Given the description of an element on the screen output the (x, y) to click on. 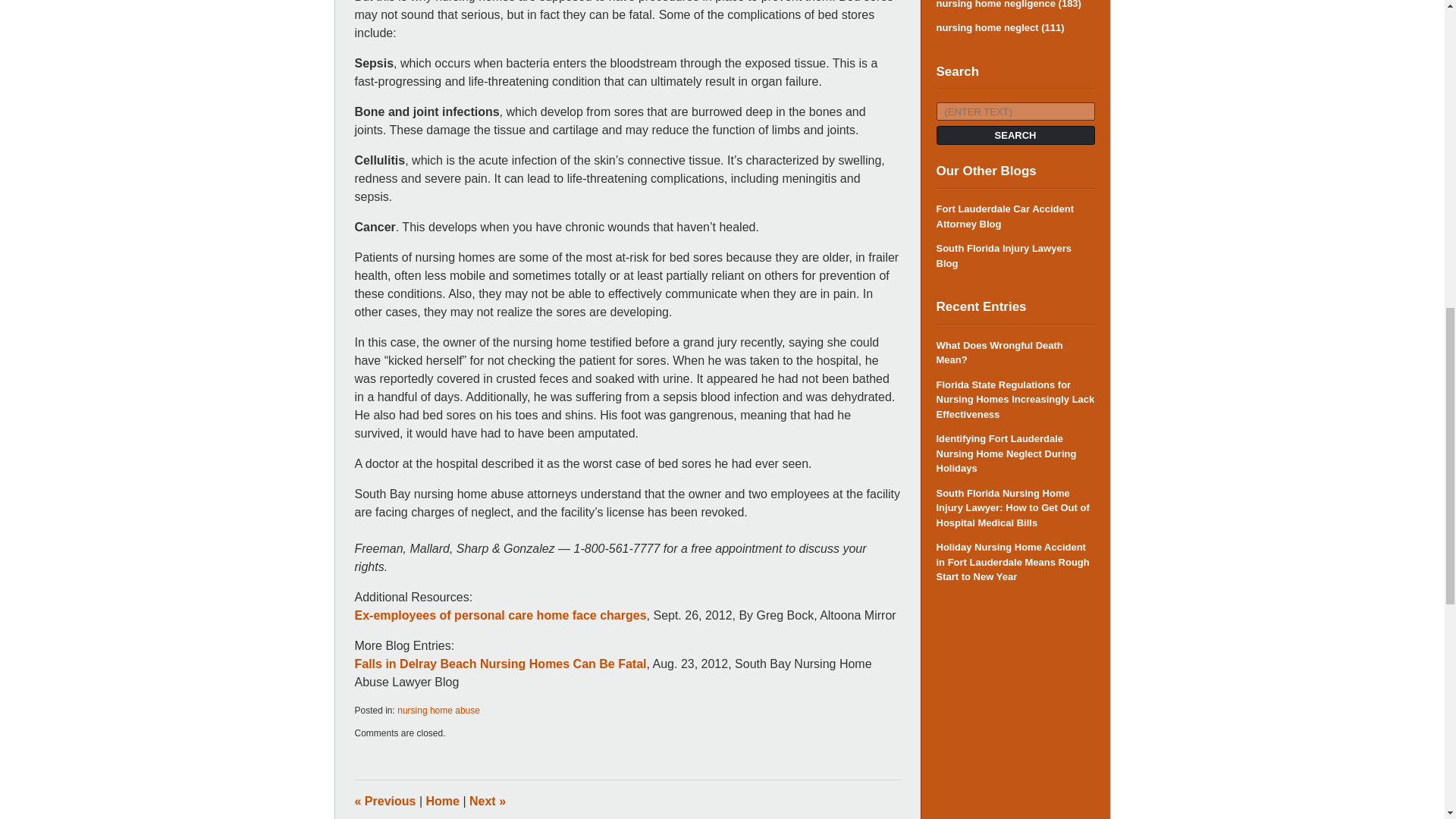
SEARCH (1015, 135)
What Does Wrongful Death Mean? (1015, 352)
Home (443, 800)
Fort Lauderdale Car Accident Attorney Blog (1015, 215)
nursing home abuse (438, 710)
View all posts in nursing home abuse (438, 710)
South Florida Injury Lawyers Blog (1015, 255)
Ex-employees of personal care home face charges (500, 615)
Falls in Delray Beach Nursing Homes Can Be Fatal (500, 663)
Fellsmere Nursing Homes Have Average 7-8 Health Deficiencies (486, 800)
